Given the description of an element on the screen output the (x, y) to click on. 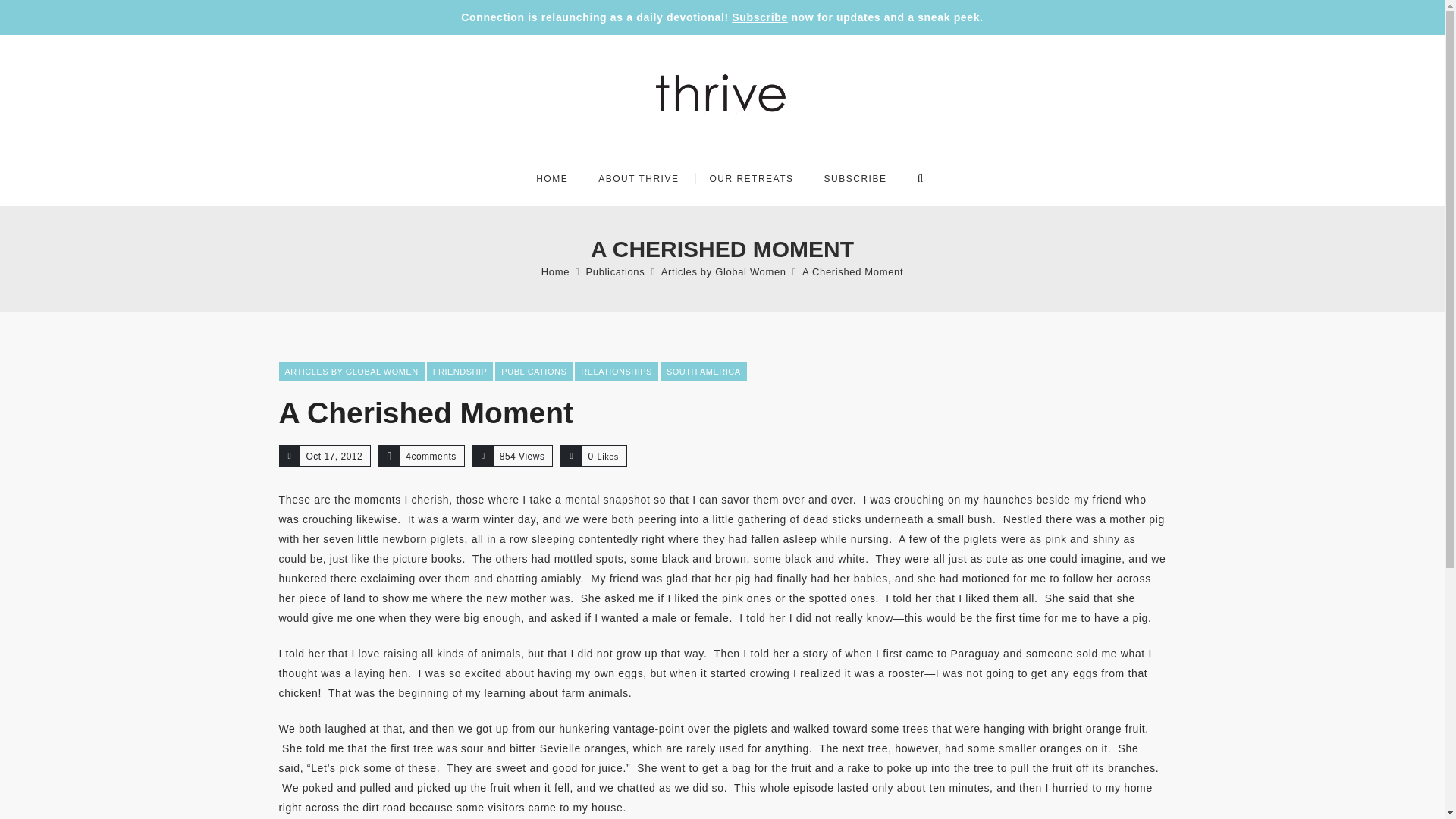
4comments (431, 456)
Publications (615, 271)
Home (555, 271)
FRIENDSHIP (459, 371)
Go (906, 221)
ABOUT THRIVE (638, 178)
SUBSCRIBE (855, 178)
RELATIONSHIPS (616, 371)
Thrive Connection (721, 92)
Articles by Global Women (723, 271)
